Given the description of an element on the screen output the (x, y) to click on. 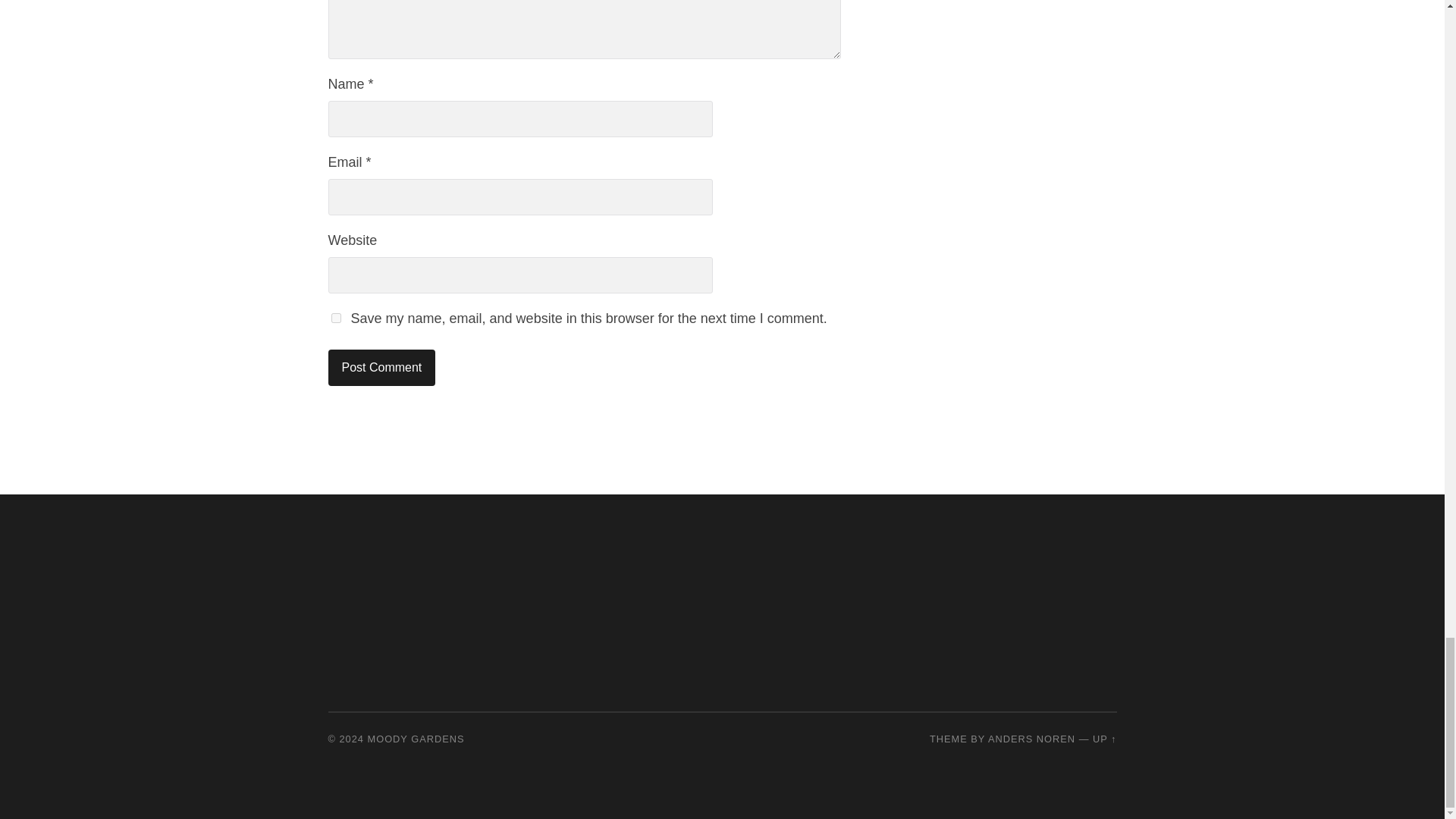
MOODY GARDENS (416, 738)
yes (335, 317)
Post Comment (381, 367)
ANDERS NOREN (1031, 738)
To the top (1104, 738)
Post Comment (381, 367)
